Given the description of an element on the screen output the (x, y) to click on. 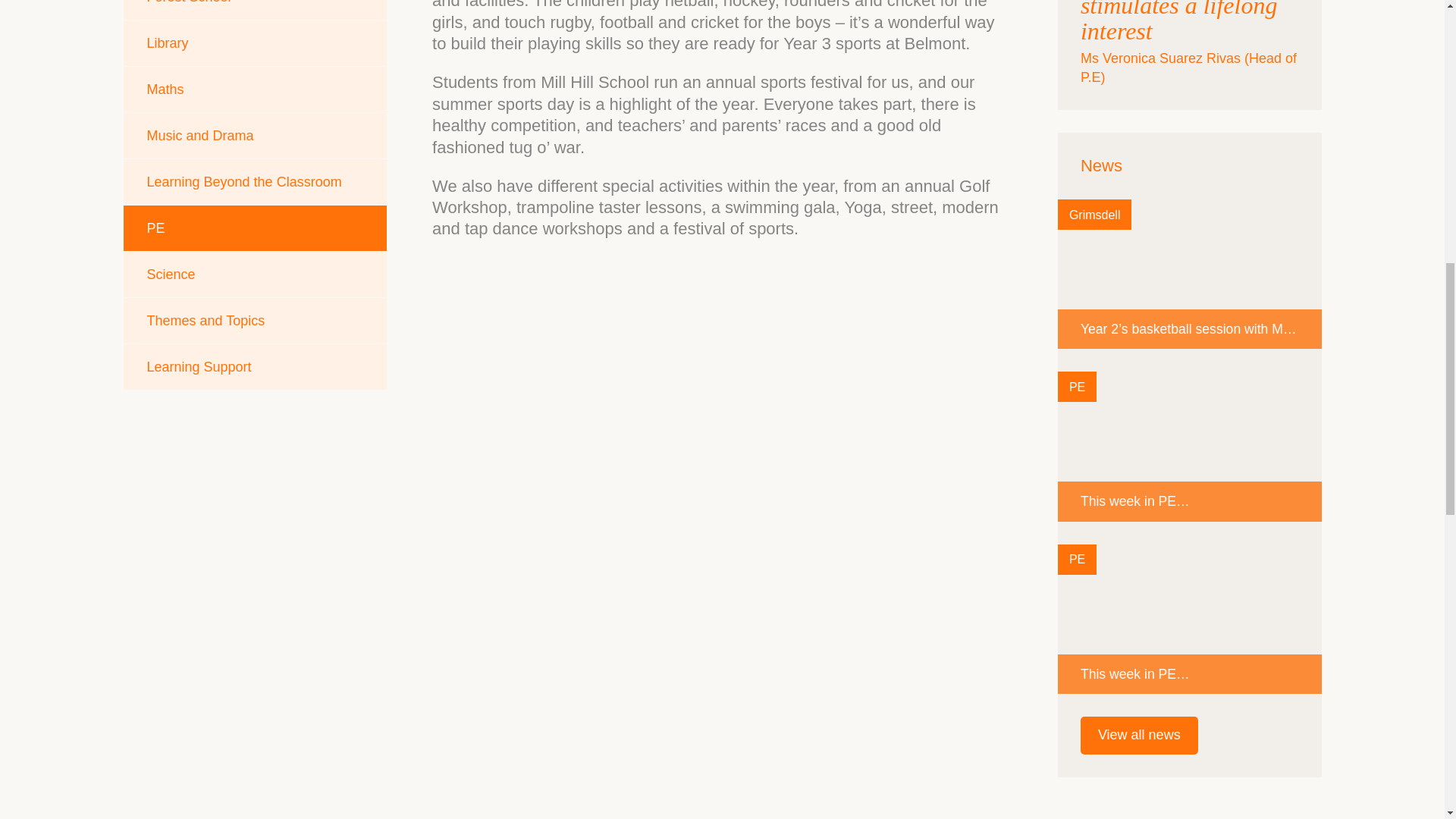
Music and Drama (254, 135)
Learning Support (254, 366)
Themes and Topics (254, 320)
Science (254, 274)
PE (254, 227)
Library (254, 43)
Maths (254, 89)
Grimsdell (1095, 214)
Learning Beyond the Classroom (254, 181)
Forest School (254, 9)
